Given the description of an element on the screen output the (x, y) to click on. 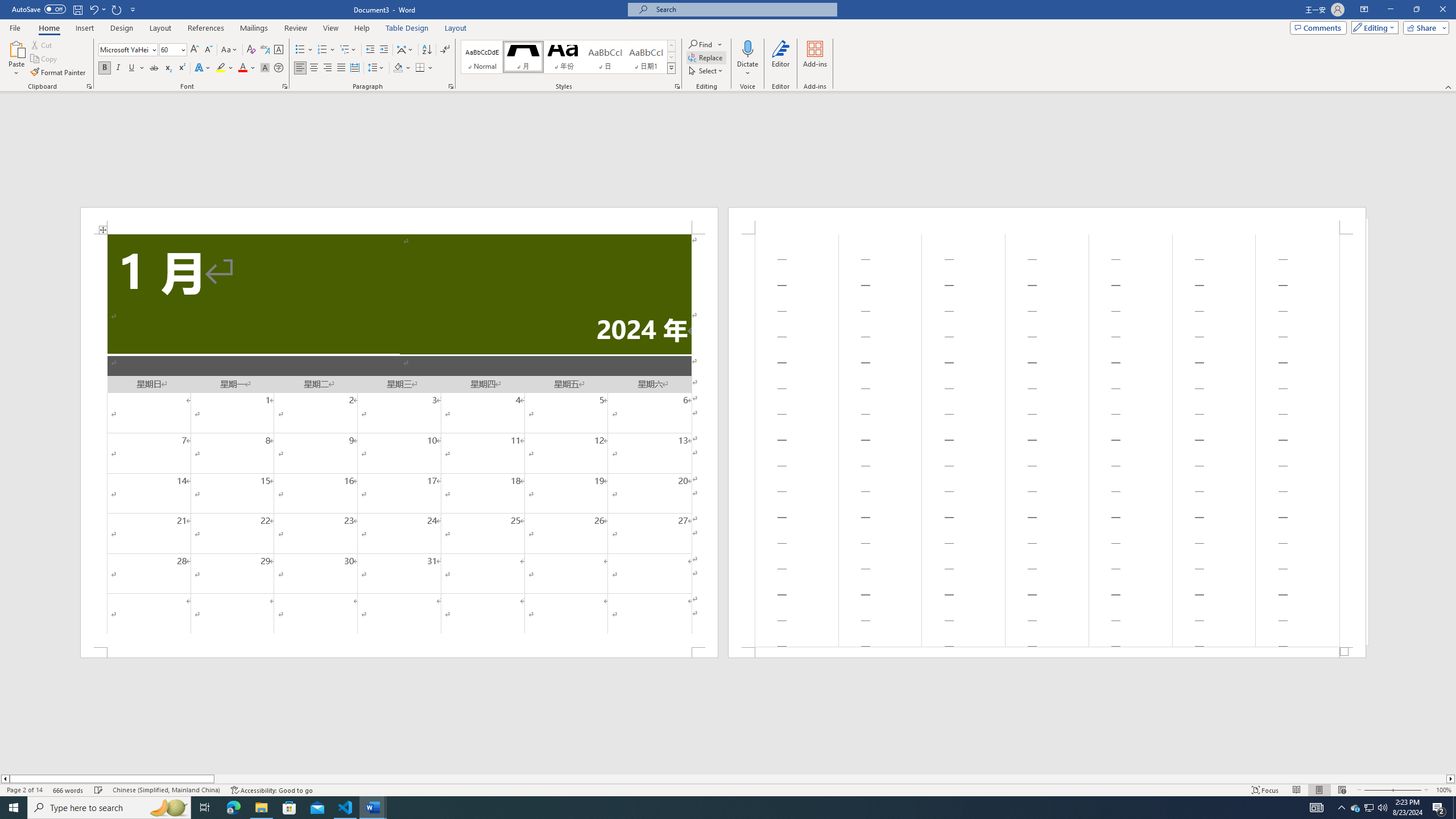
Bullets (300, 49)
Justify (340, 67)
Shrink Font (208, 49)
Distributed (354, 67)
Underline (136, 67)
Sort... (426, 49)
Font Color (246, 67)
Center (313, 67)
Class: NetUIScrollBar (728, 778)
Help (361, 28)
Share (1423, 27)
Undo Apply Quick Style (92, 9)
Page Number Page 2 of 14 (24, 790)
